Given the description of an element on the screen output the (x, y) to click on. 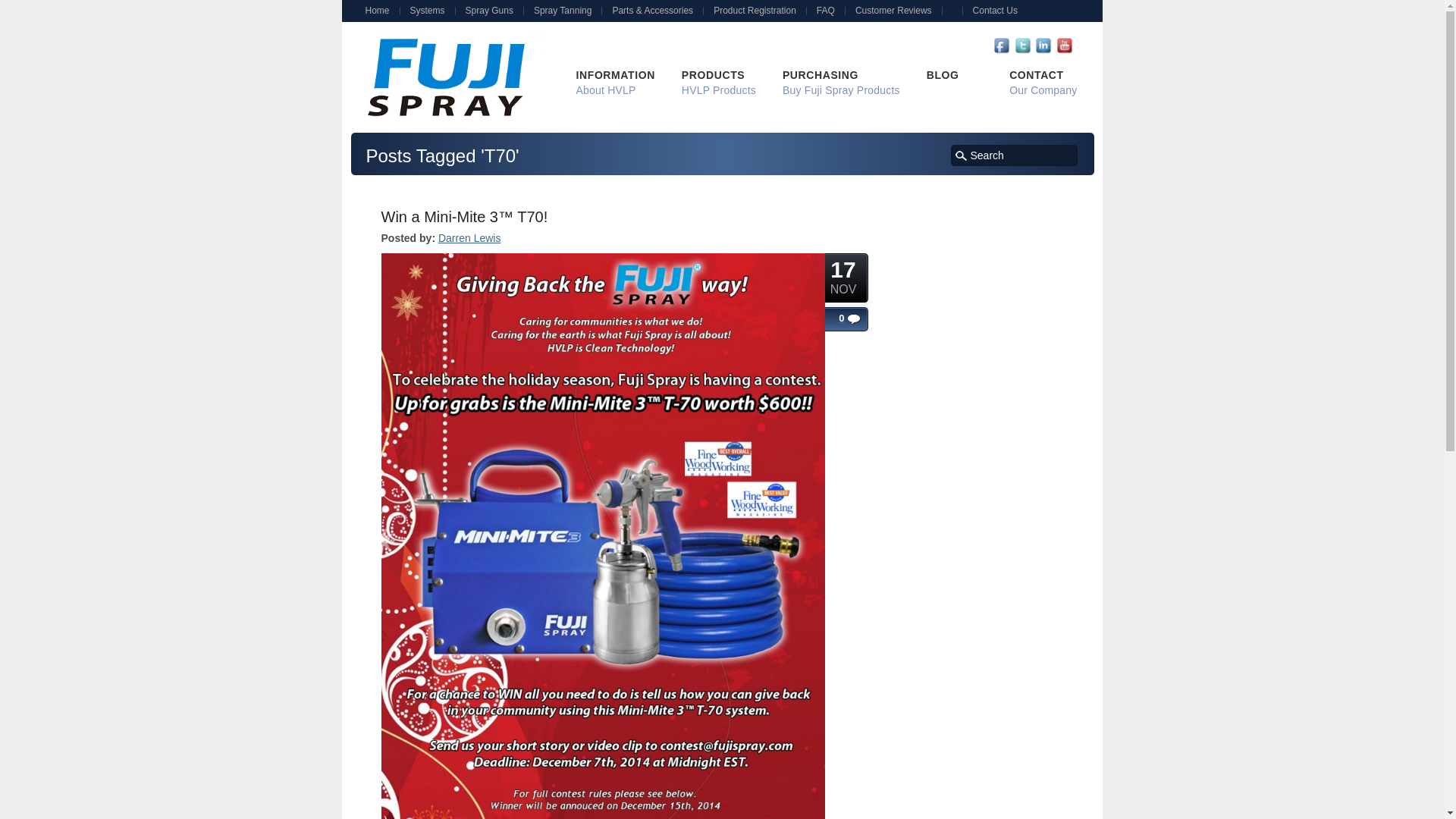
Contact Us Element type: text (999, 10)
Darren Lewis Element type: text (469, 238)
0 Element type: text (830, 318)
Home Element type: text (380, 10)
Spray Tanning Element type: text (566, 10)
PRODUCTS
HVLP Products Element type: text (718, 82)
Spray Guns Element type: text (493, 10)
Customer Reviews Element type: text (897, 10)
search Element type: text (960, 156)
FAQ Element type: text (829, 10)
Parts & Accessories Element type: text (656, 10)
INFORMATION
About HVLP Element type: text (615, 82)
Product Registration Element type: text (758, 10)
Systems Element type: text (431, 10)
PURCHASING
Buy Fuji Spray Products Element type: text (841, 82)
CONTACT
Our Company Element type: text (1042, 82)
